Given the description of an element on the screen output the (x, y) to click on. 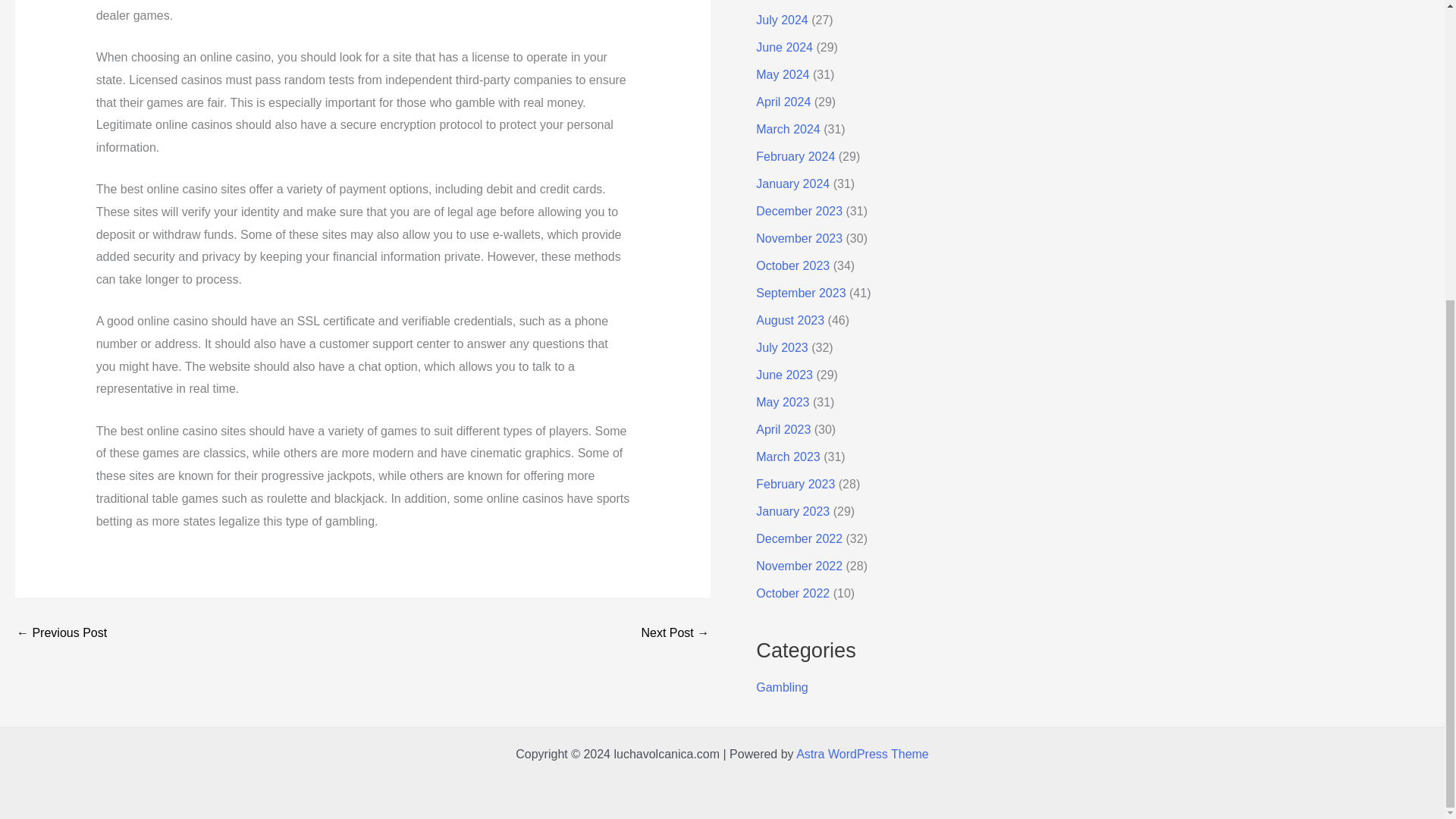
December 2023 (799, 210)
July 2023 (781, 347)
October 2022 (792, 593)
January 2024 (792, 183)
January 2023 (792, 511)
July 2024 (781, 19)
May 2024 (782, 74)
December 2022 (799, 538)
Astra WordPress Theme (862, 753)
April 2024 (782, 101)
